Given the description of an element on the screen output the (x, y) to click on. 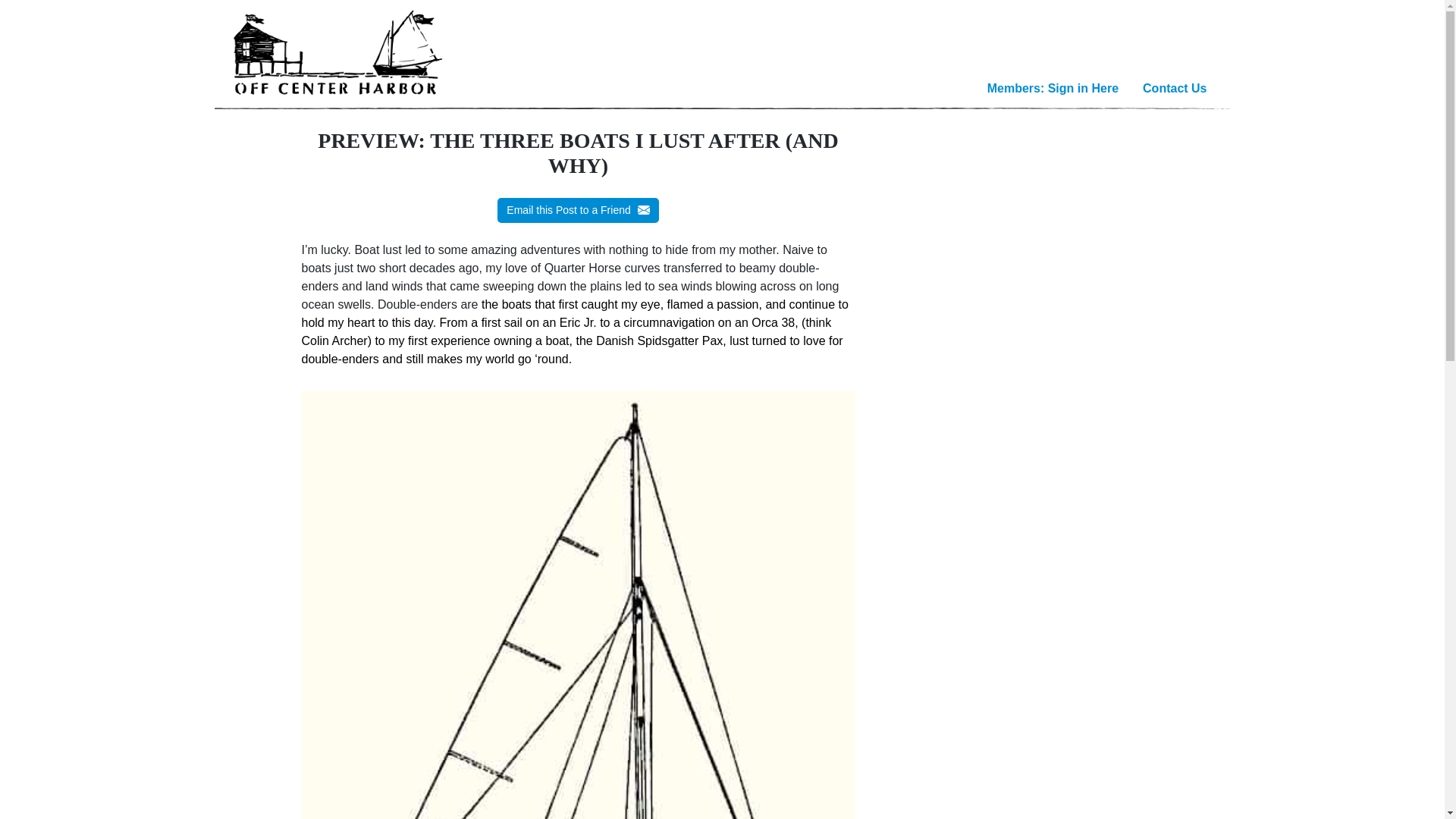
Danish Spidsgatter Pax (658, 340)
Contact Us (1174, 88)
Email this Post to a Friend (577, 210)
Eric Jr.  (579, 322)
Orca 38 (772, 322)
to a circumnavigation on an (675, 322)
Members: Sign in Here (1053, 88)
